Given the description of an element on the screen output the (x, y) to click on. 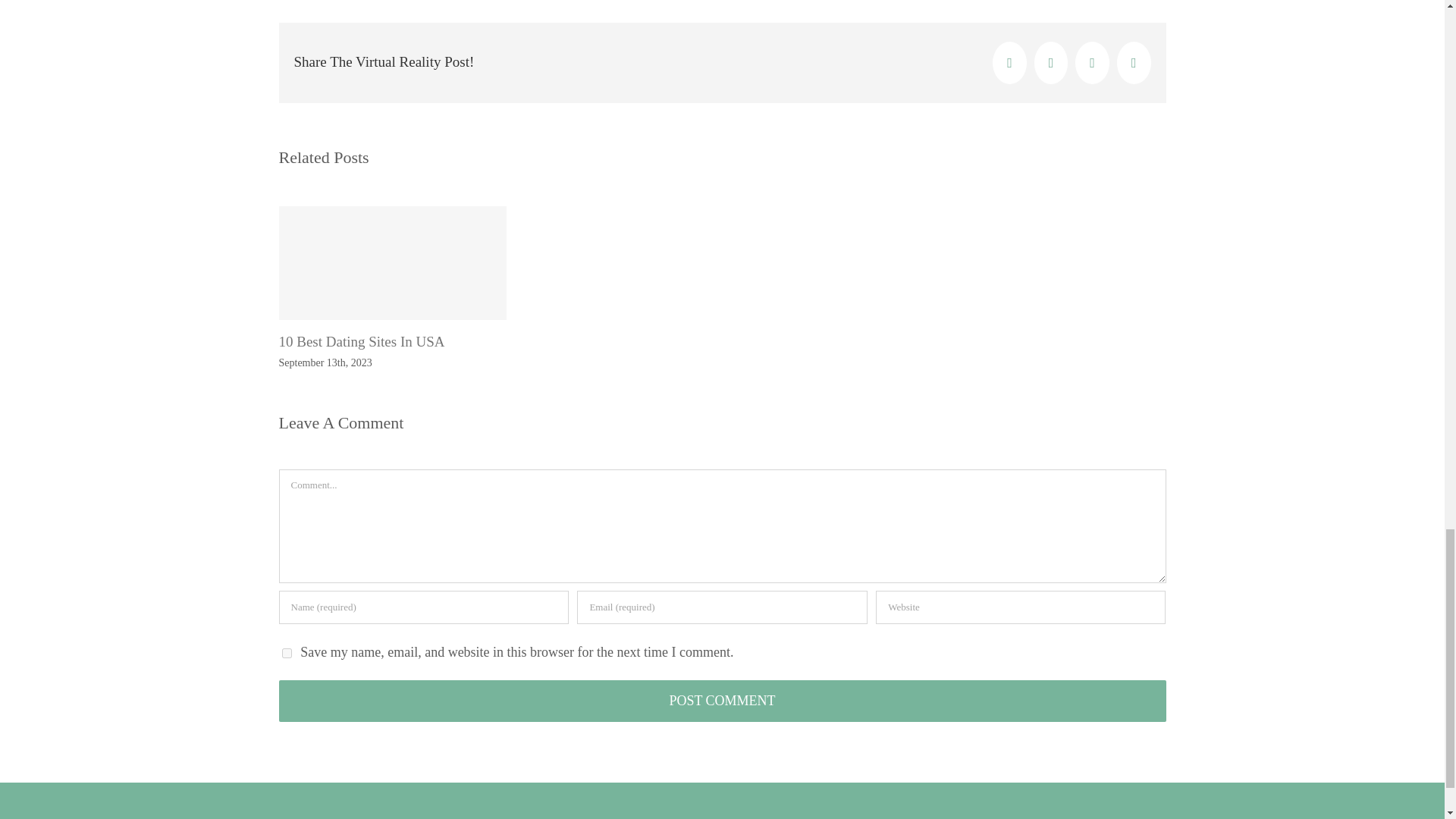
10 Best Dating Sites In USA (362, 341)
10 Best Dating Sites In USA (362, 341)
Post Comment (722, 700)
Post Comment (722, 700)
yes (287, 653)
